Given the description of an element on the screen output the (x, y) to click on. 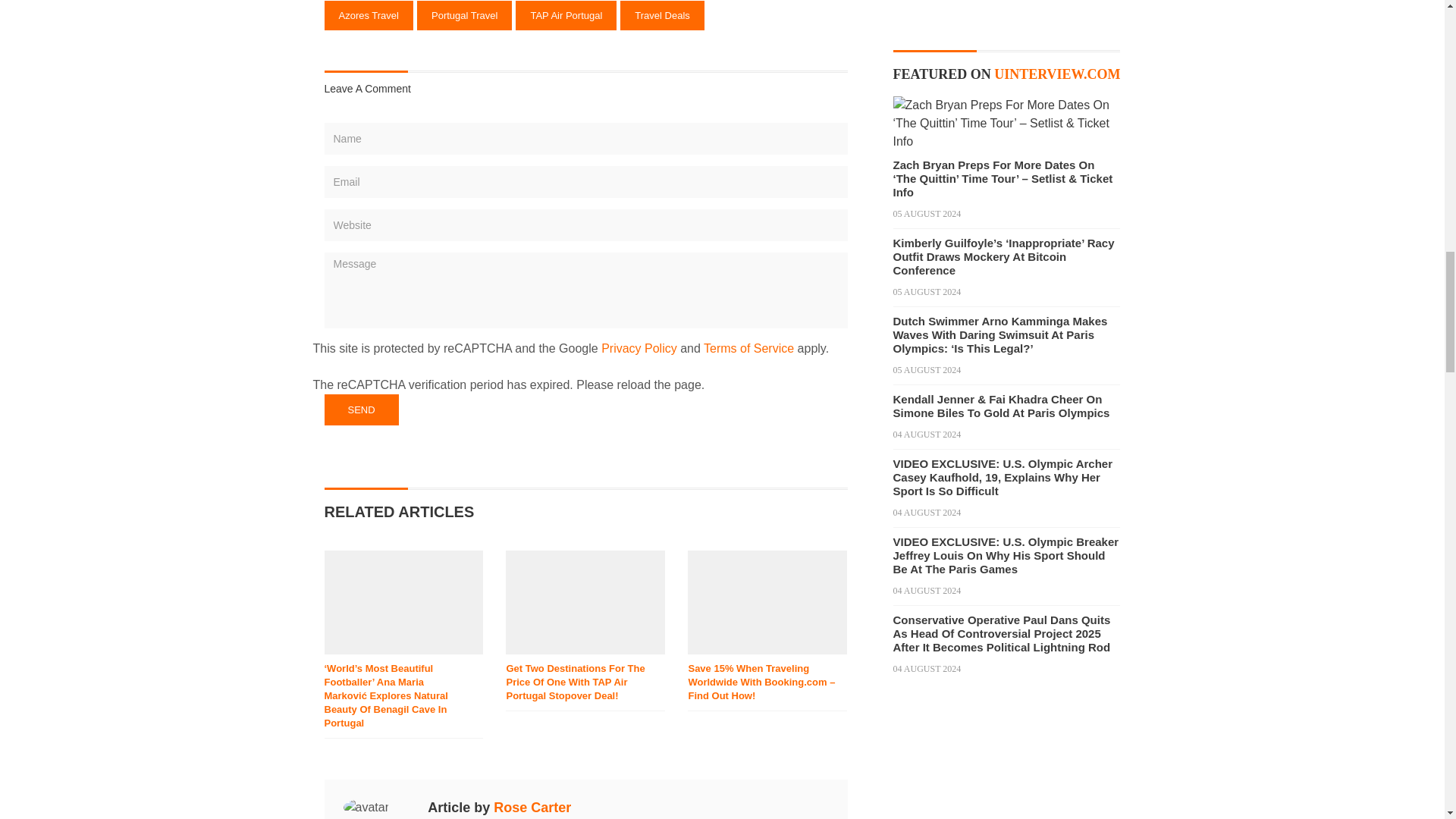
Azores Travel (368, 15)
Send (361, 409)
